Given the description of an element on the screen output the (x, y) to click on. 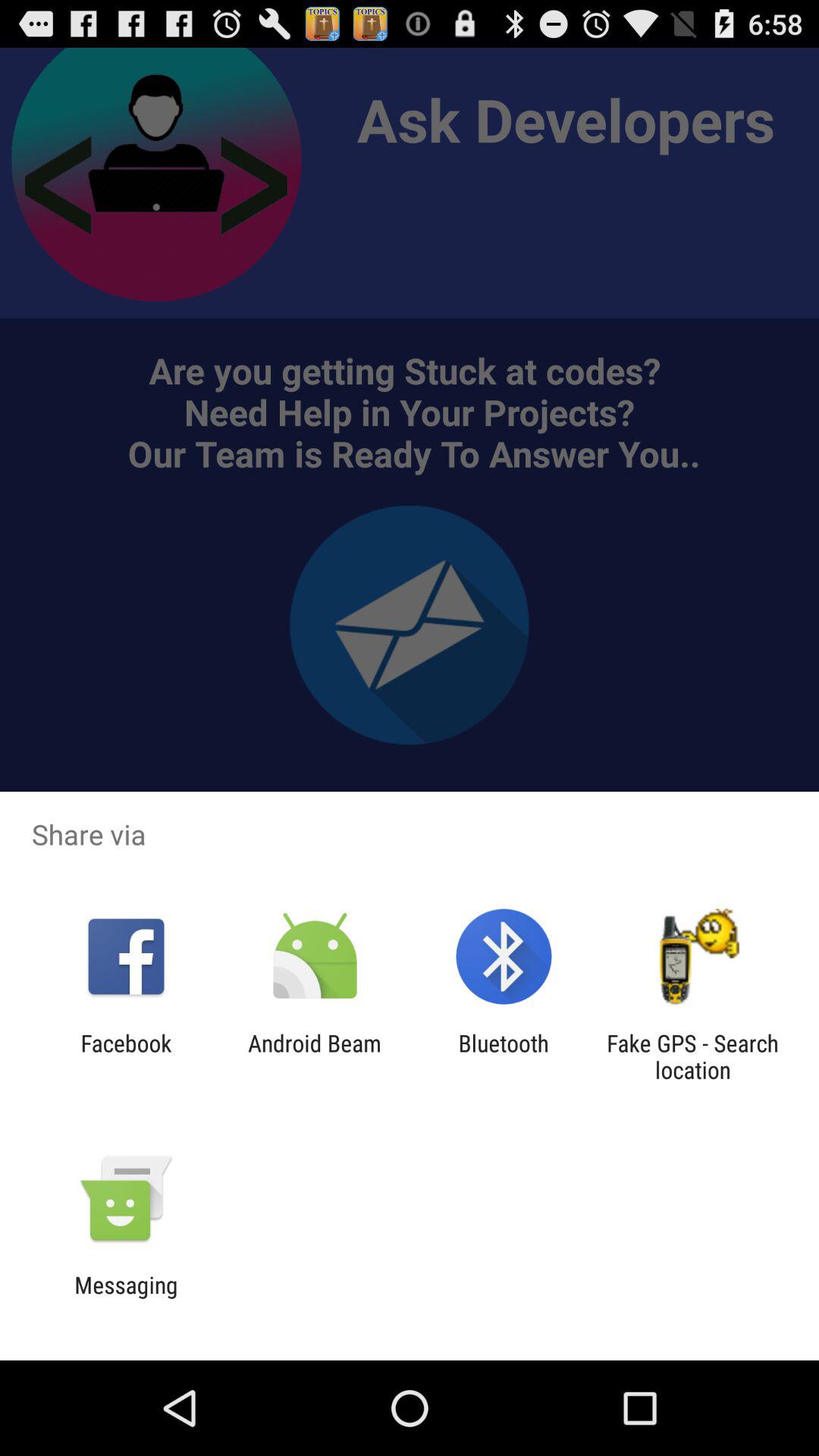
turn on app next to the android beam icon (503, 1056)
